Given the description of an element on the screen output the (x, y) to click on. 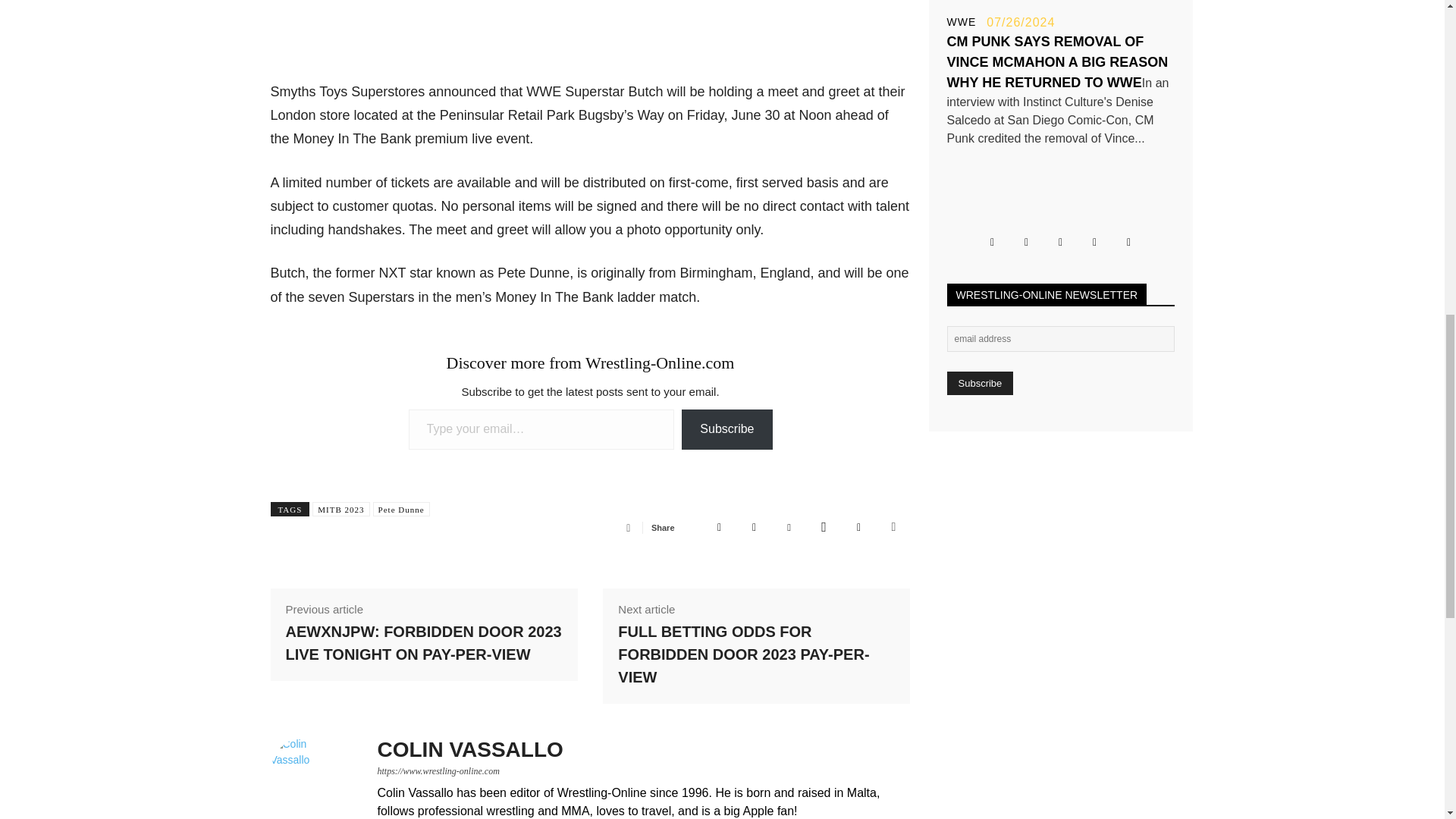
Subscribe (979, 382)
